Given the description of an element on the screen output the (x, y) to click on. 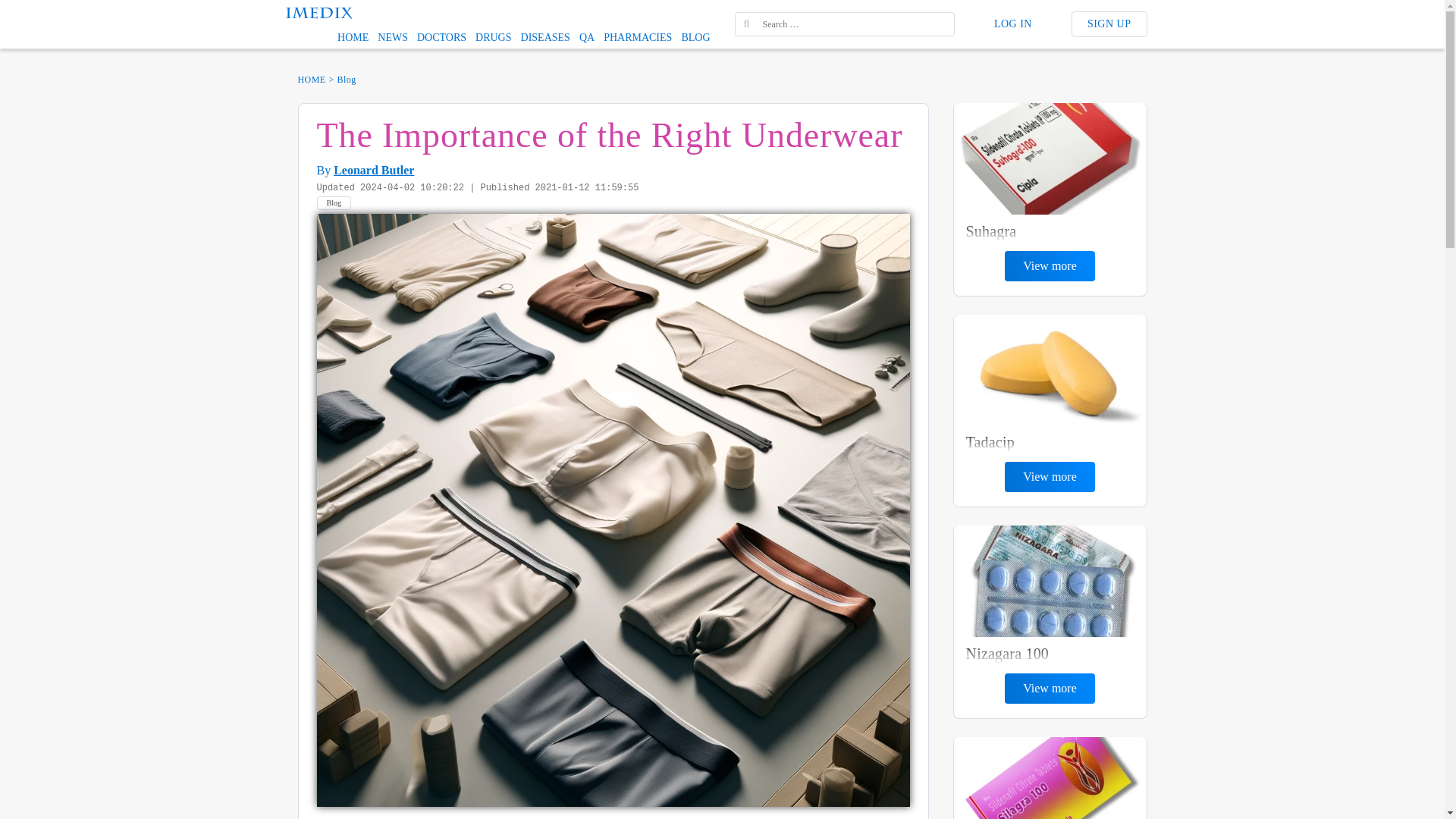
DOCTORS (440, 37)
NEWS (392, 37)
Leonard Butler (373, 169)
DISEASES (545, 37)
LOG IN (1012, 24)
Blog (346, 78)
HOME (310, 78)
BLOG (695, 37)
QA (586, 37)
Search (22, 8)
